Given the description of an element on the screen output the (x, y) to click on. 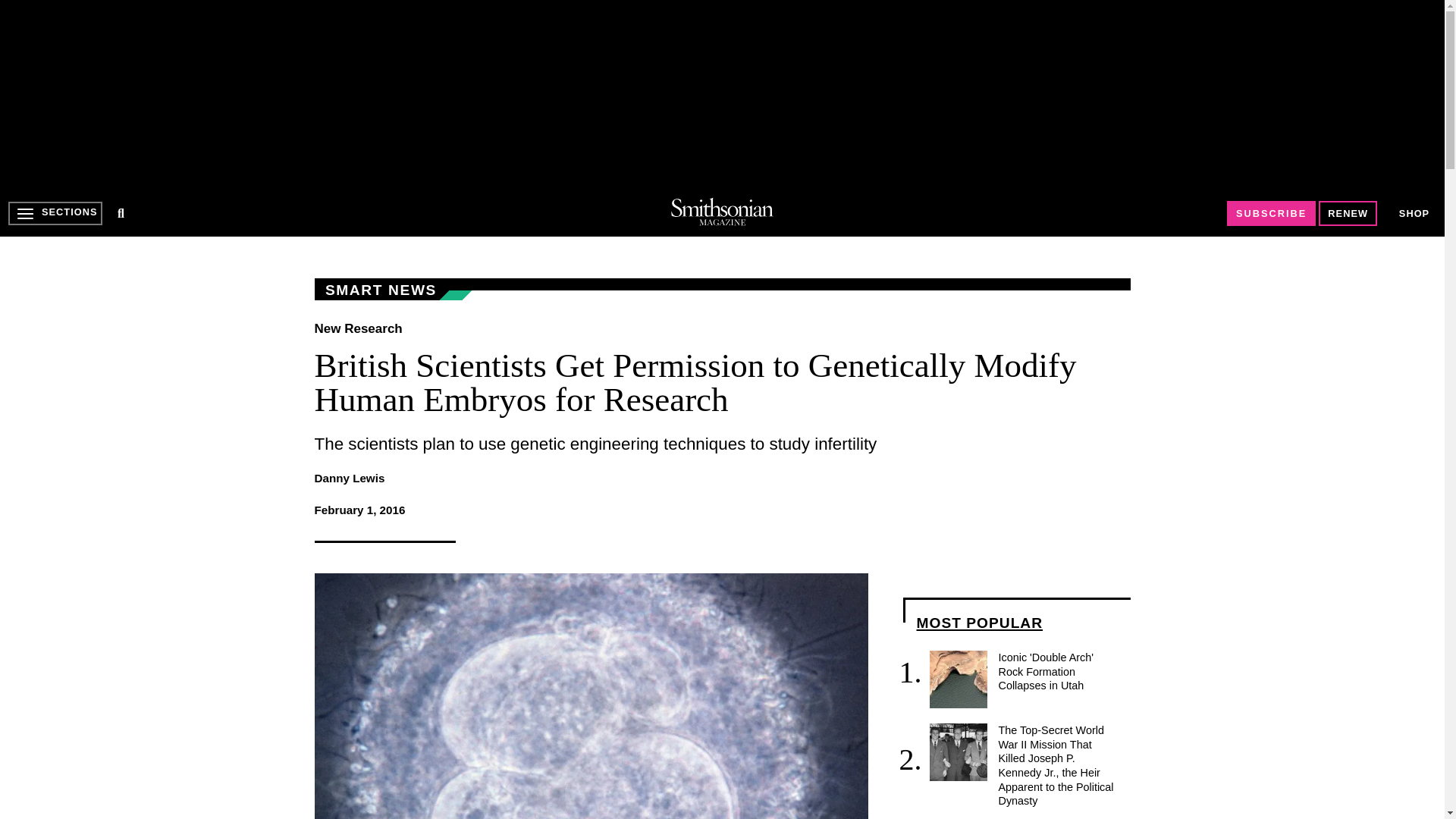
SHOP (1413, 212)
SHOP (1414, 213)
SUBSCRIBE (1271, 213)
SUBSCRIBE (1271, 212)
RENEW (1347, 212)
SECTIONS (55, 213)
RENEW (1348, 213)
3rd party ad content (721, 94)
